Given the description of an element on the screen output the (x, y) to click on. 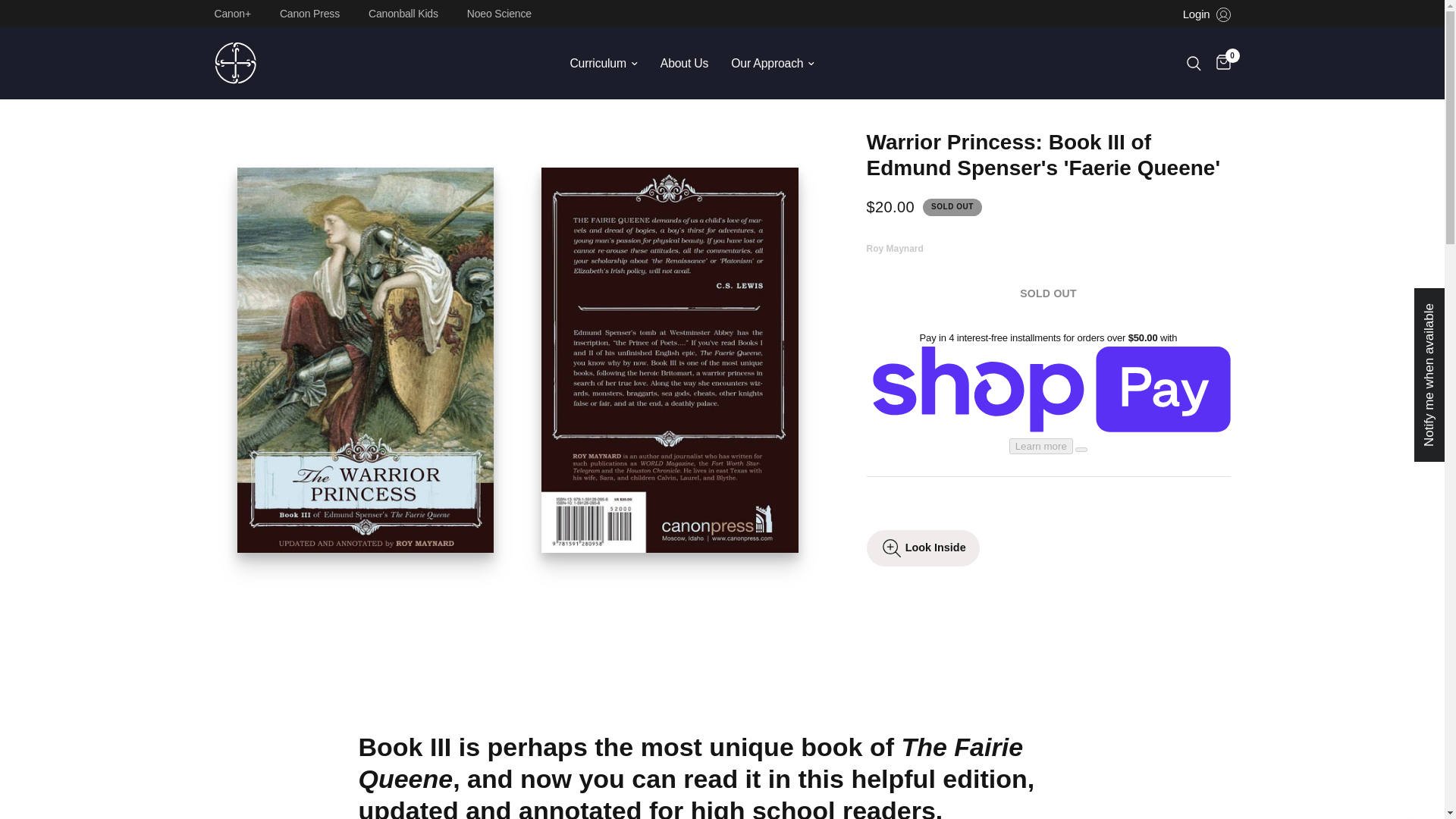
Noeo Science (502, 13)
Login (1206, 13)
Canon Press (313, 13)
Canonball Kids (406, 13)
